Given the description of an element on the screen output the (x, y) to click on. 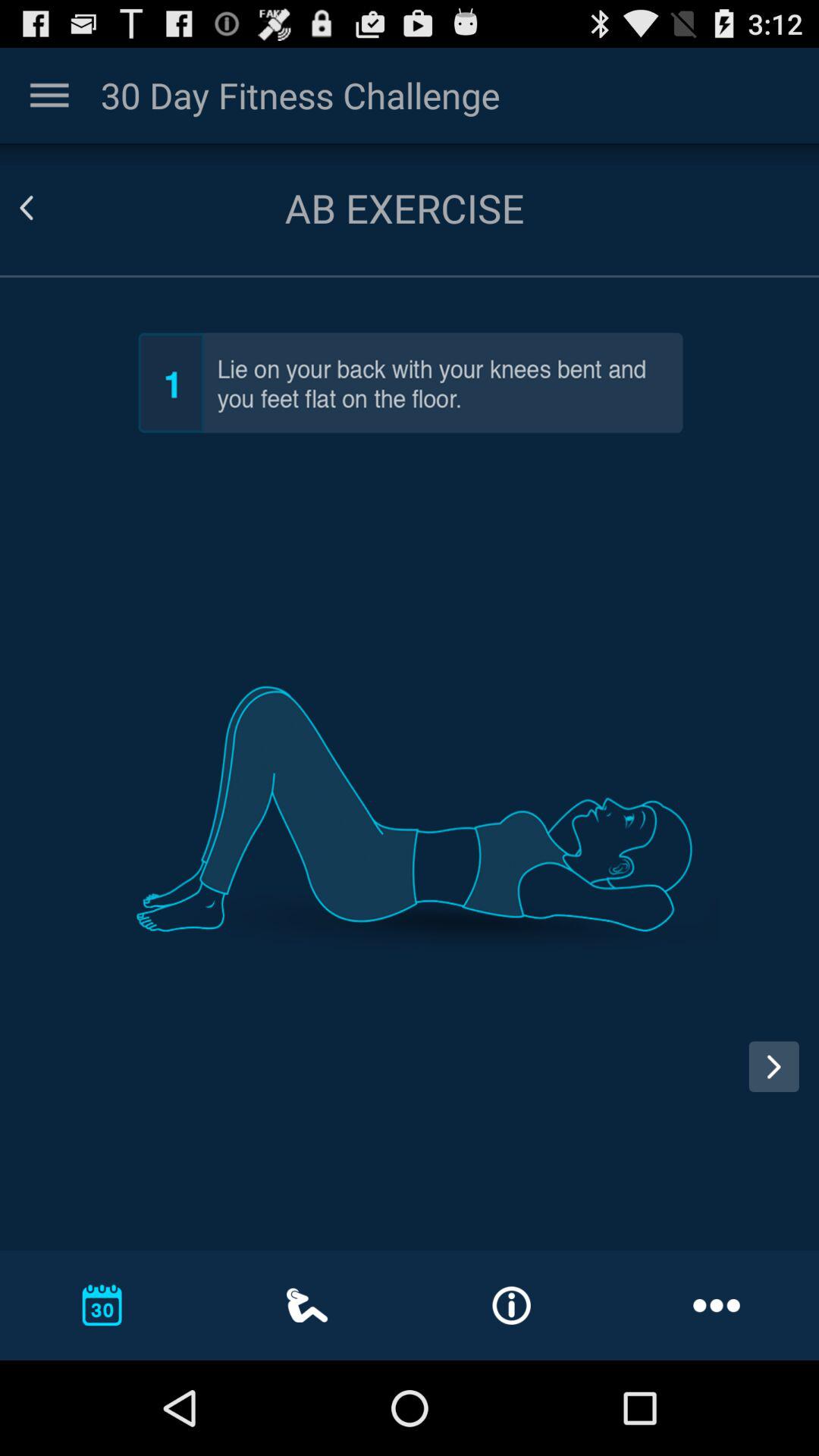
go to next (774, 1066)
